Given the description of an element on the screen output the (x, y) to click on. 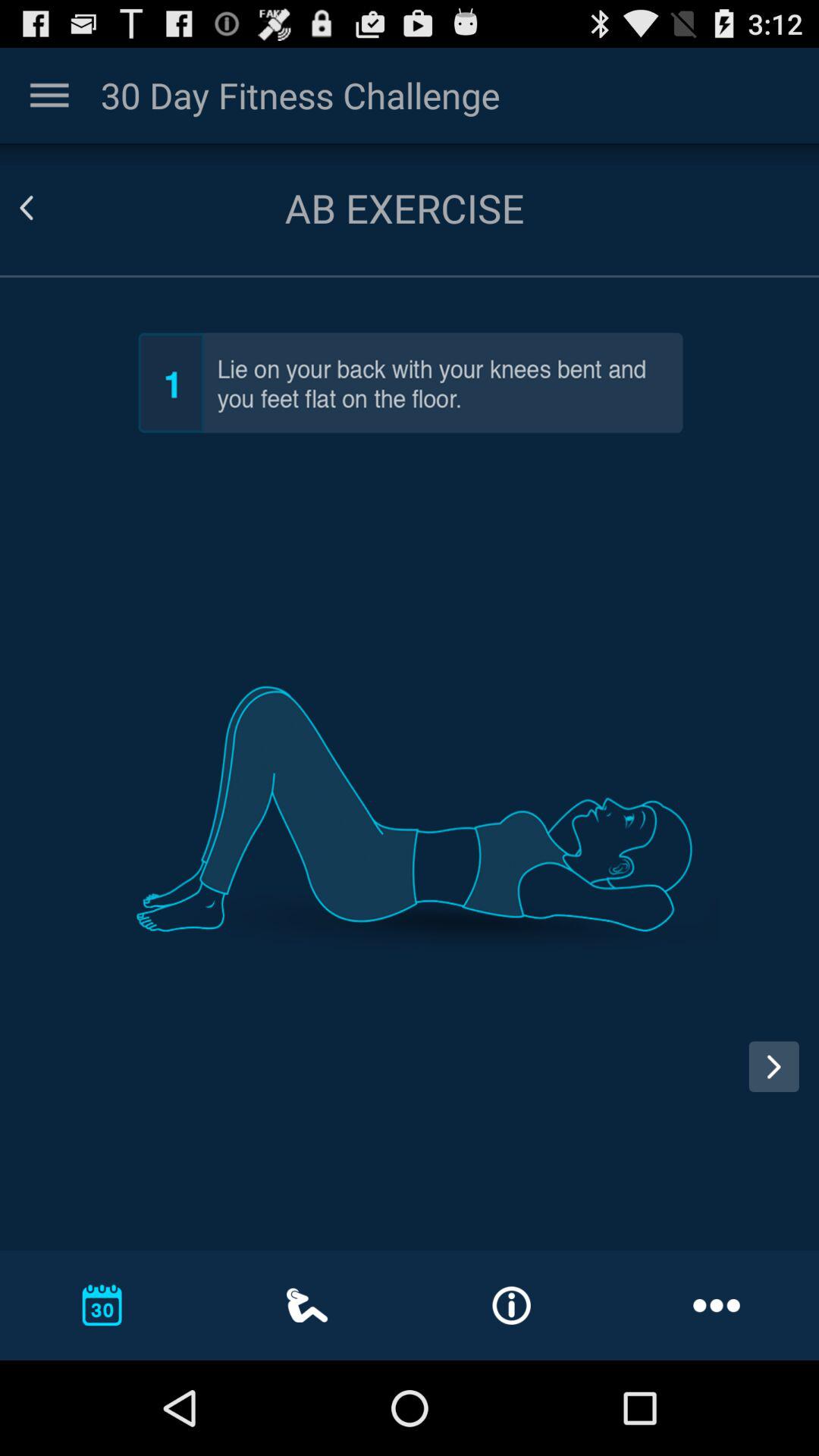
go to next (774, 1066)
